Given the description of an element on the screen output the (x, y) to click on. 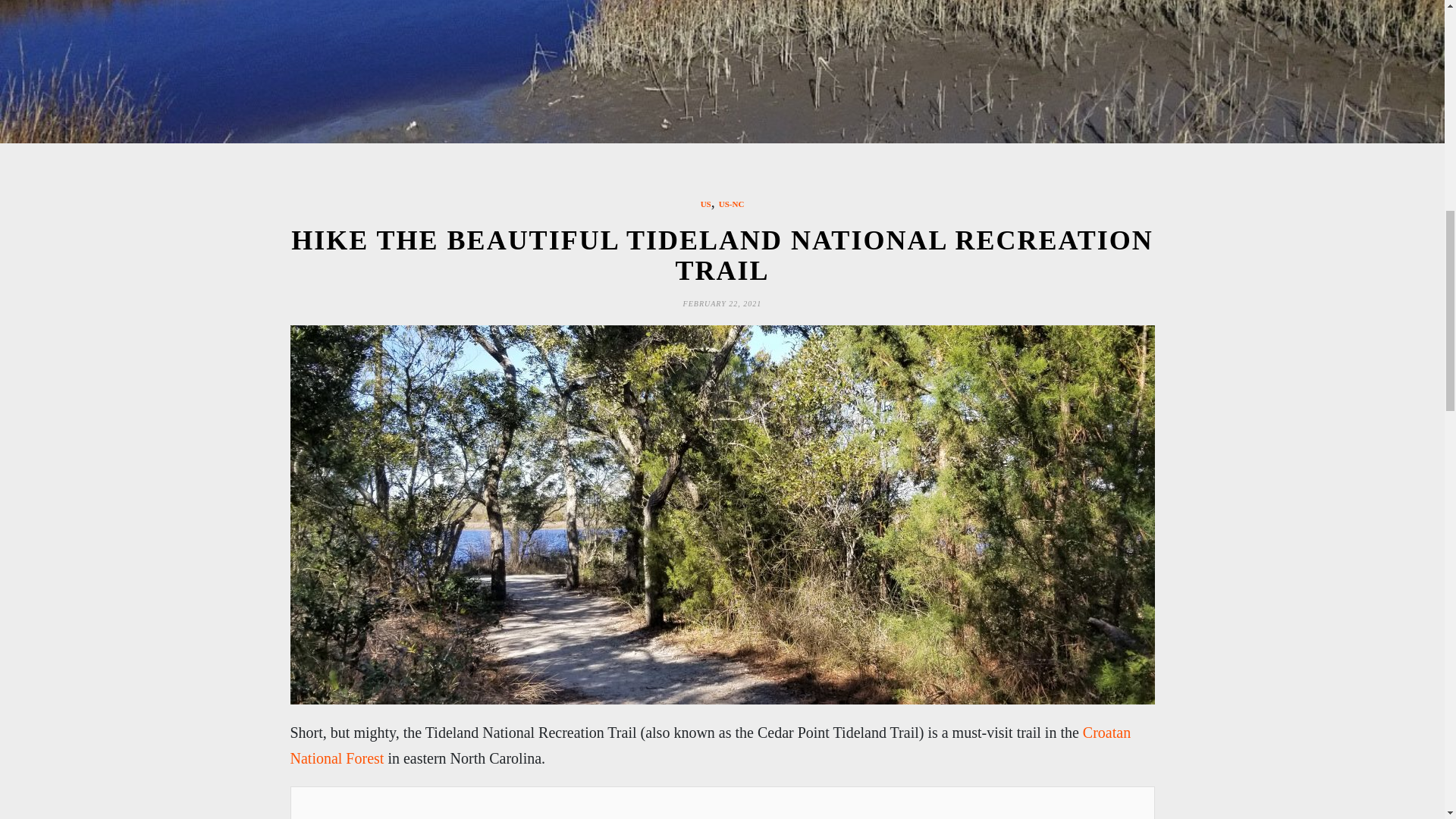
Croatan National Forest (710, 744)
US-NC (731, 204)
